Given the description of an element on the screen output the (x, y) to click on. 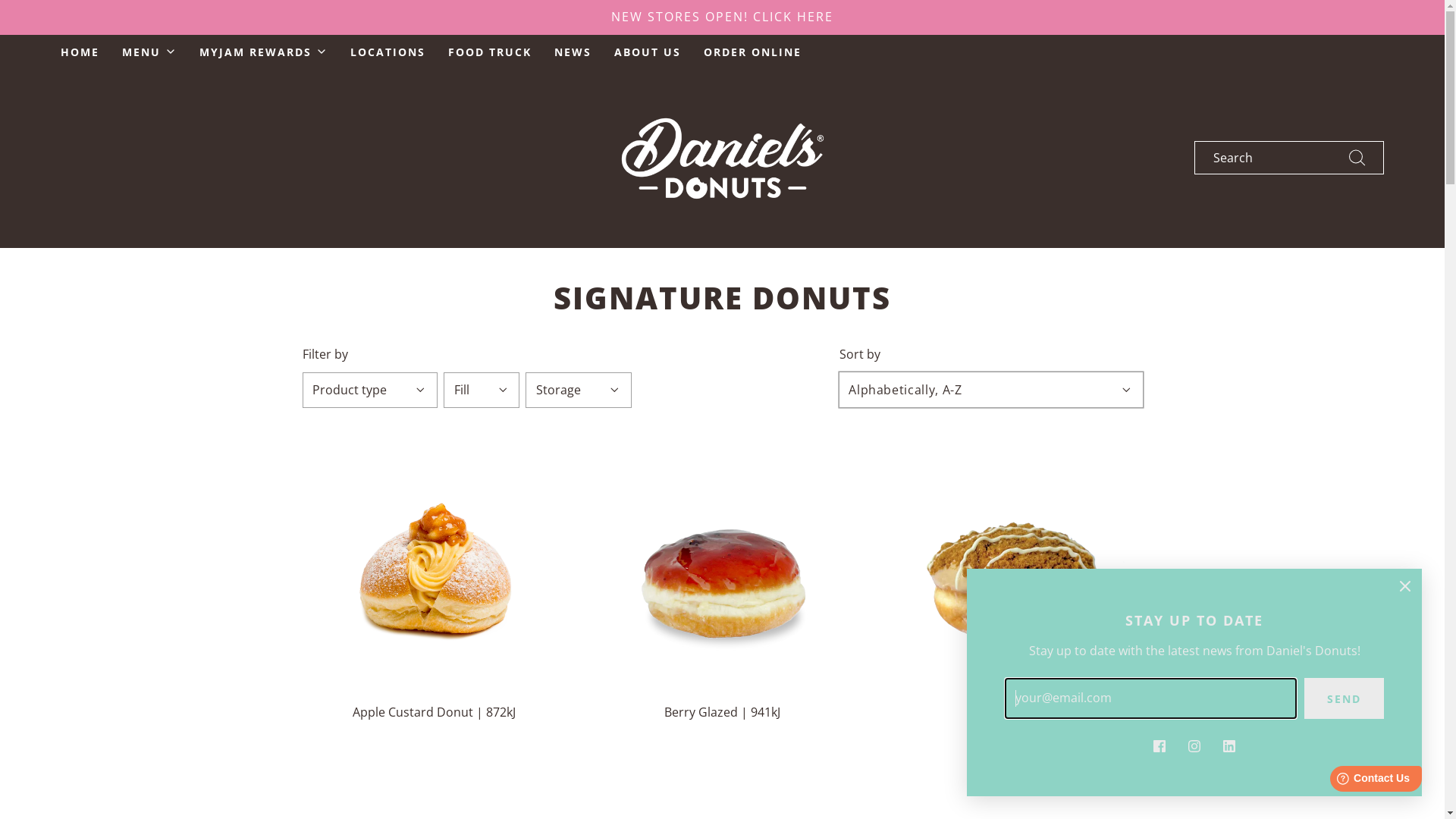
ORDER ONLINE Element type: text (752, 51)
Apple Custard Donut | 872kJ Element type: text (434, 716)
MENU Element type: text (149, 51)
HOME Element type: text (79, 51)
Biscoff | 2190kJ Element type: text (1010, 716)
Berry Glazed | 941kJ Element type: text (722, 716)
FOOD TRUCK Element type: text (489, 51)
NEW STORES OPEN! CLICK HERE Element type: text (721, 16)
Instagram icon Element type: text (1194, 745)
Facebook icon Element type: text (1159, 745)
MYJAM REWARDS Element type: text (263, 51)
ABOUT US Element type: text (647, 51)
NEWS Element type: text (572, 51)
SEND Element type: text (1343, 697)
LinkedIn icon Element type: text (1229, 745)
LOCATIONS Element type: text (387, 51)
